Given the description of an element on the screen output the (x, y) to click on. 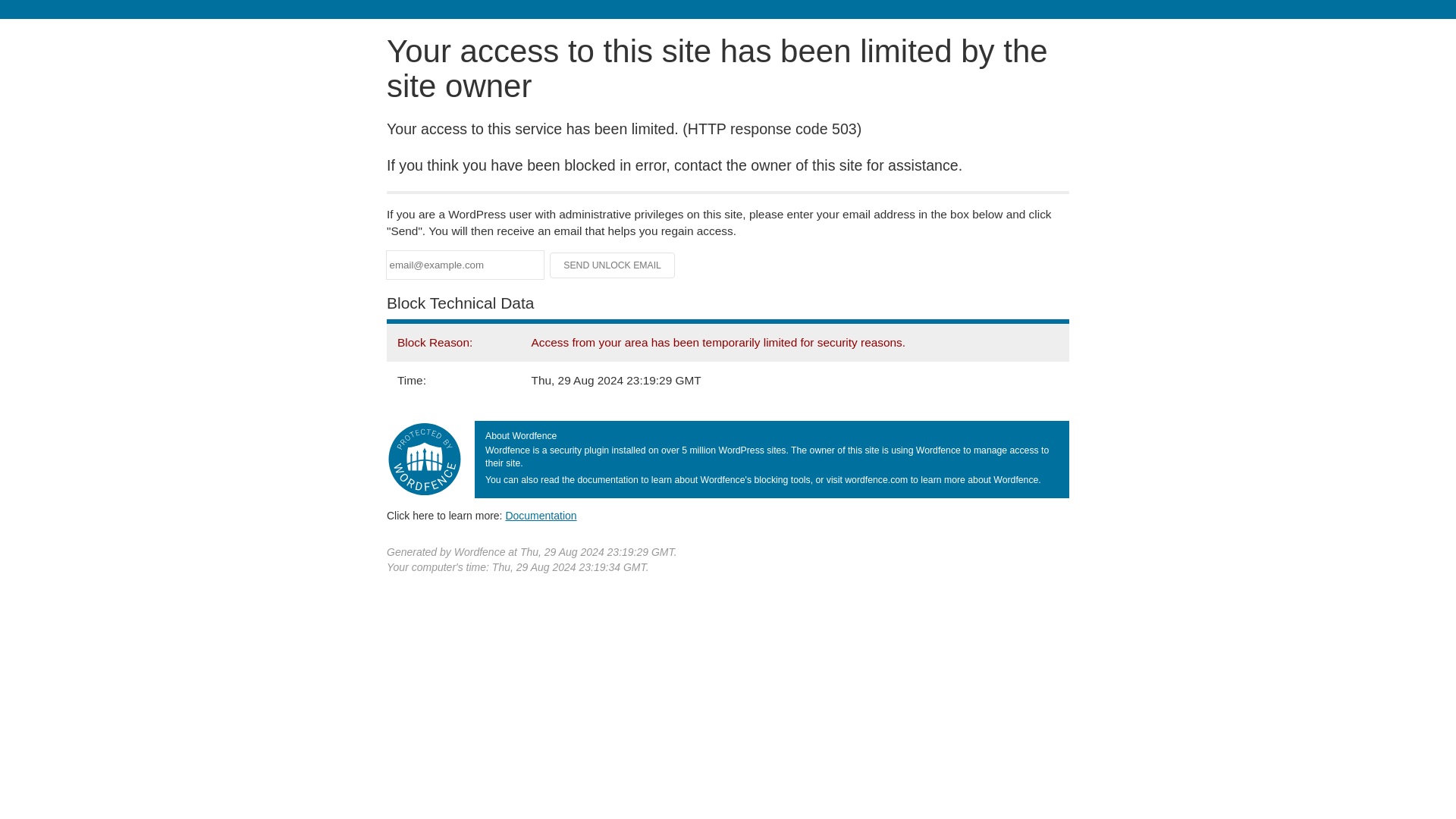
Send Unlock Email (612, 265)
Documentation (540, 515)
Send Unlock Email (612, 265)
